Given the description of an element on the screen output the (x, y) to click on. 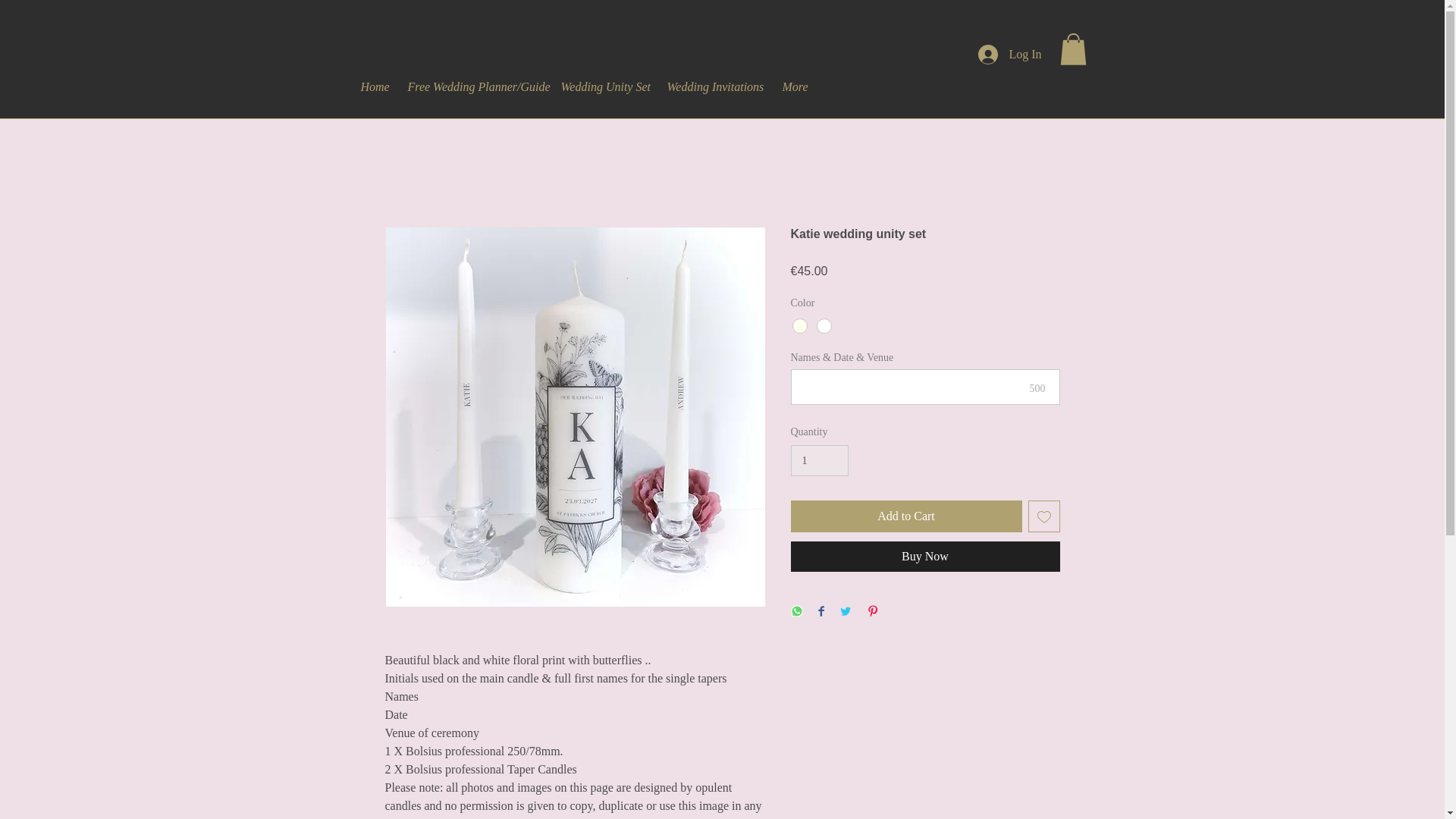
Home (373, 79)
Log In (1009, 54)
Buy Now (924, 556)
Wedding Unity Set (603, 79)
Add to Cart (906, 516)
1 (818, 460)
Wedding Invitations (713, 79)
